Given the description of an element on the screen output the (x, y) to click on. 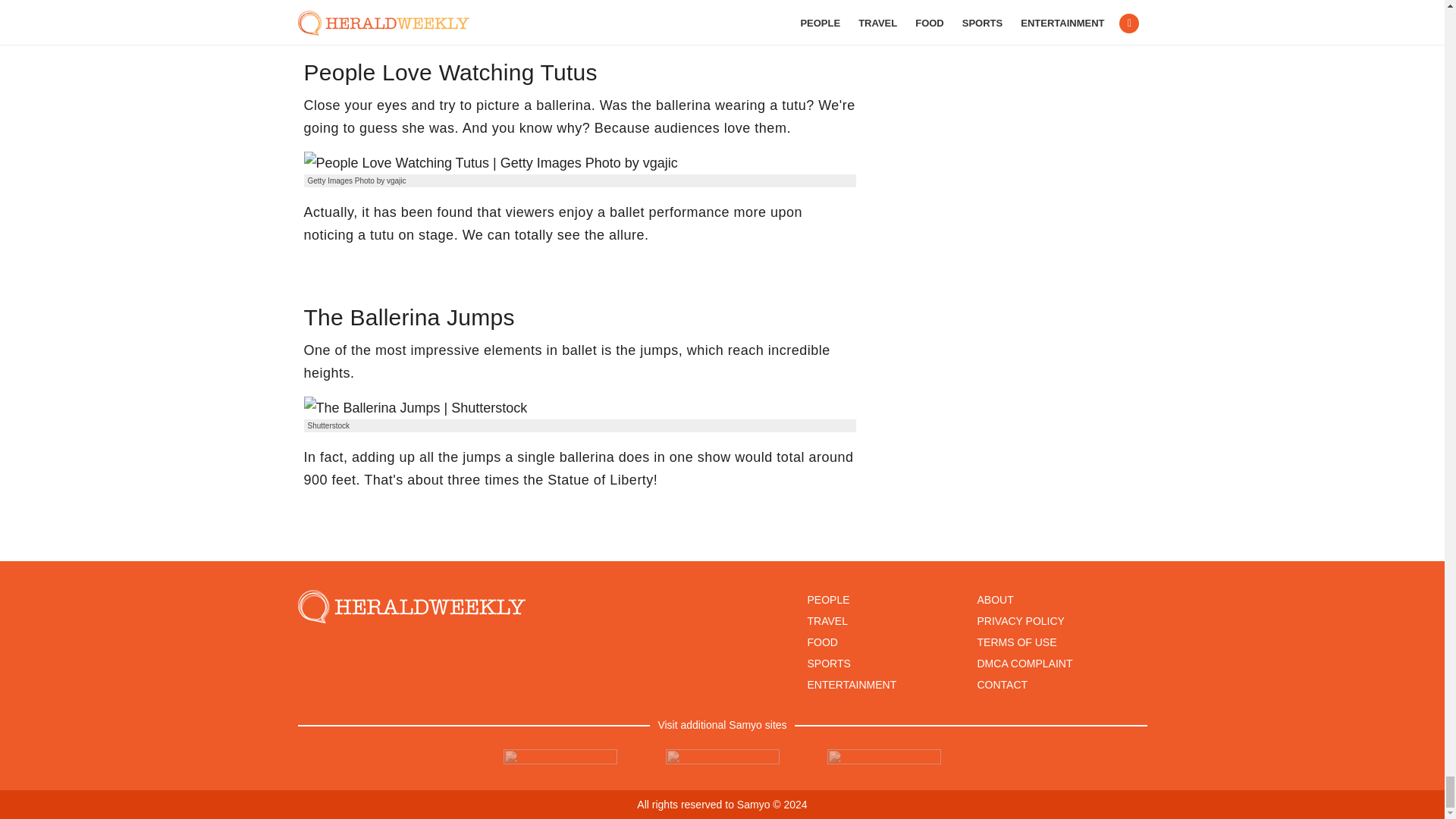
TRAVEL (826, 621)
ABOUT (994, 599)
SPORTS (828, 663)
DMCA COMPLAINT (1023, 663)
FOOD (821, 642)
PEOPLE (827, 599)
PRIVACY POLICY (1020, 621)
ENTERTAINMENT (851, 684)
CONTACT (1001, 684)
TERMS OF USE (1016, 642)
